Given the description of an element on the screen output the (x, y) to click on. 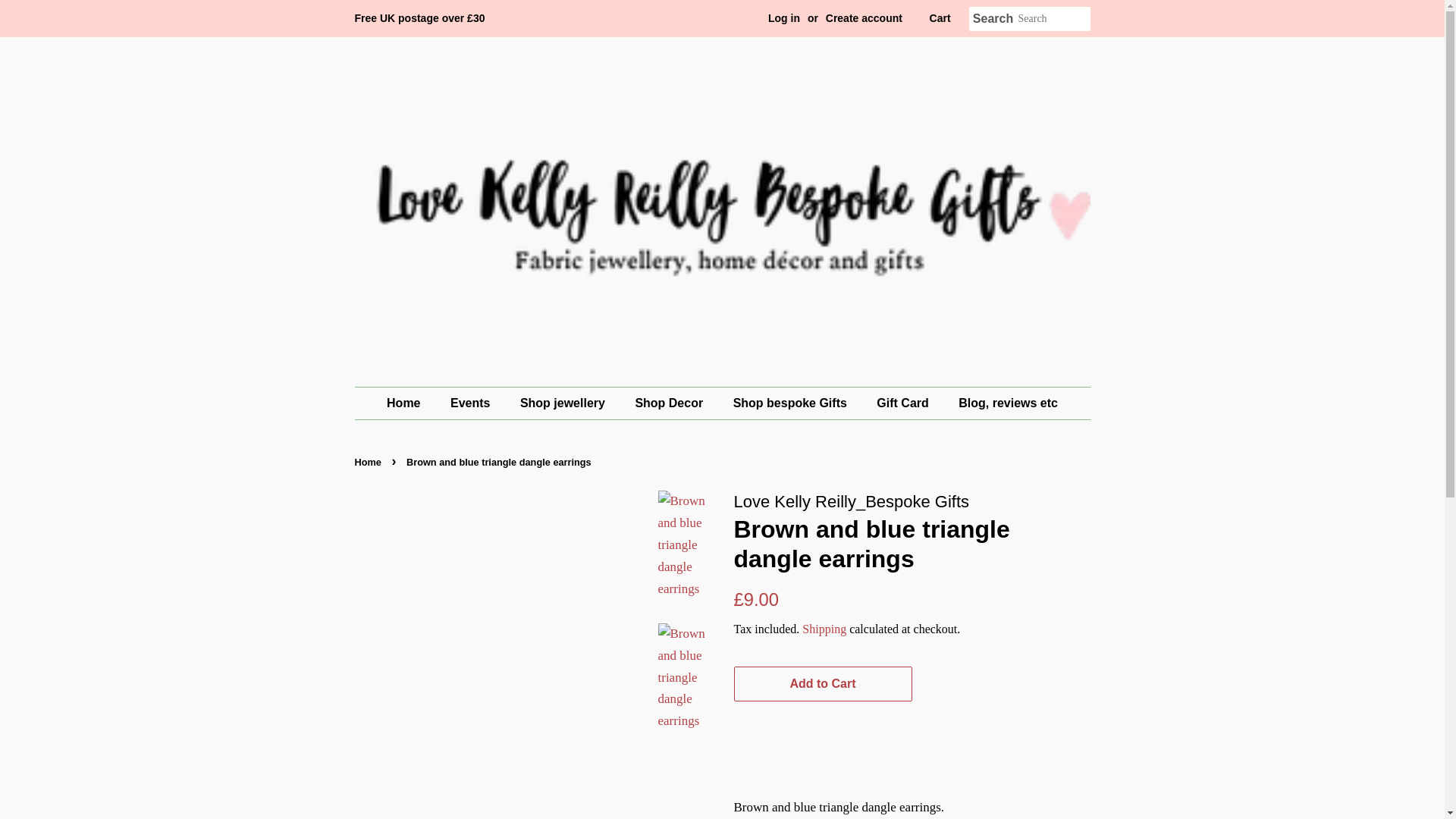
Create account (863, 18)
Search (993, 18)
Log in (783, 18)
Cart (940, 18)
Back to the frontpage (370, 461)
